Given the description of an element on the screen output the (x, y) to click on. 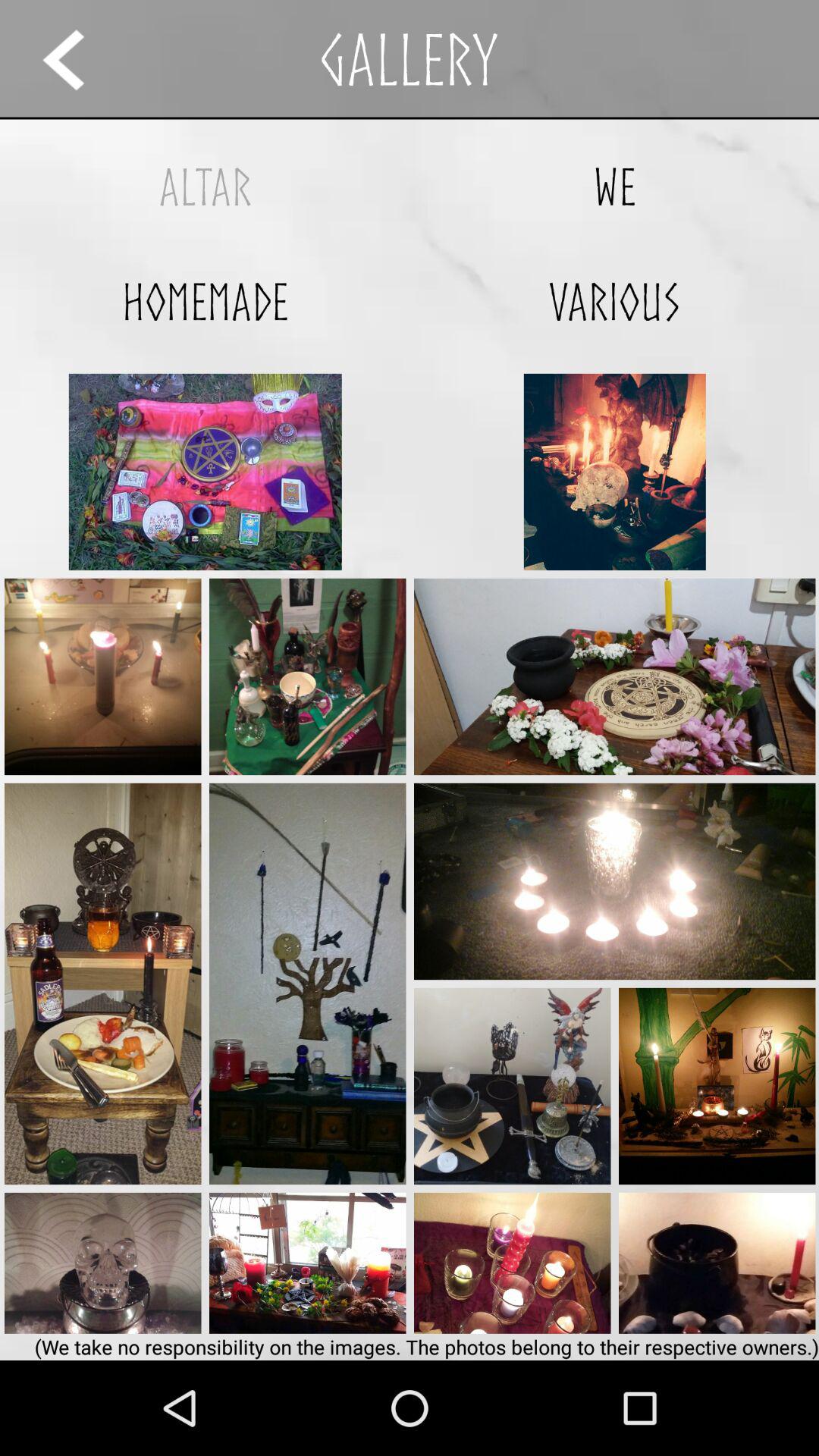
launch the app above homemade icon (204, 186)
